Given the description of an element on the screen output the (x, y) to click on. 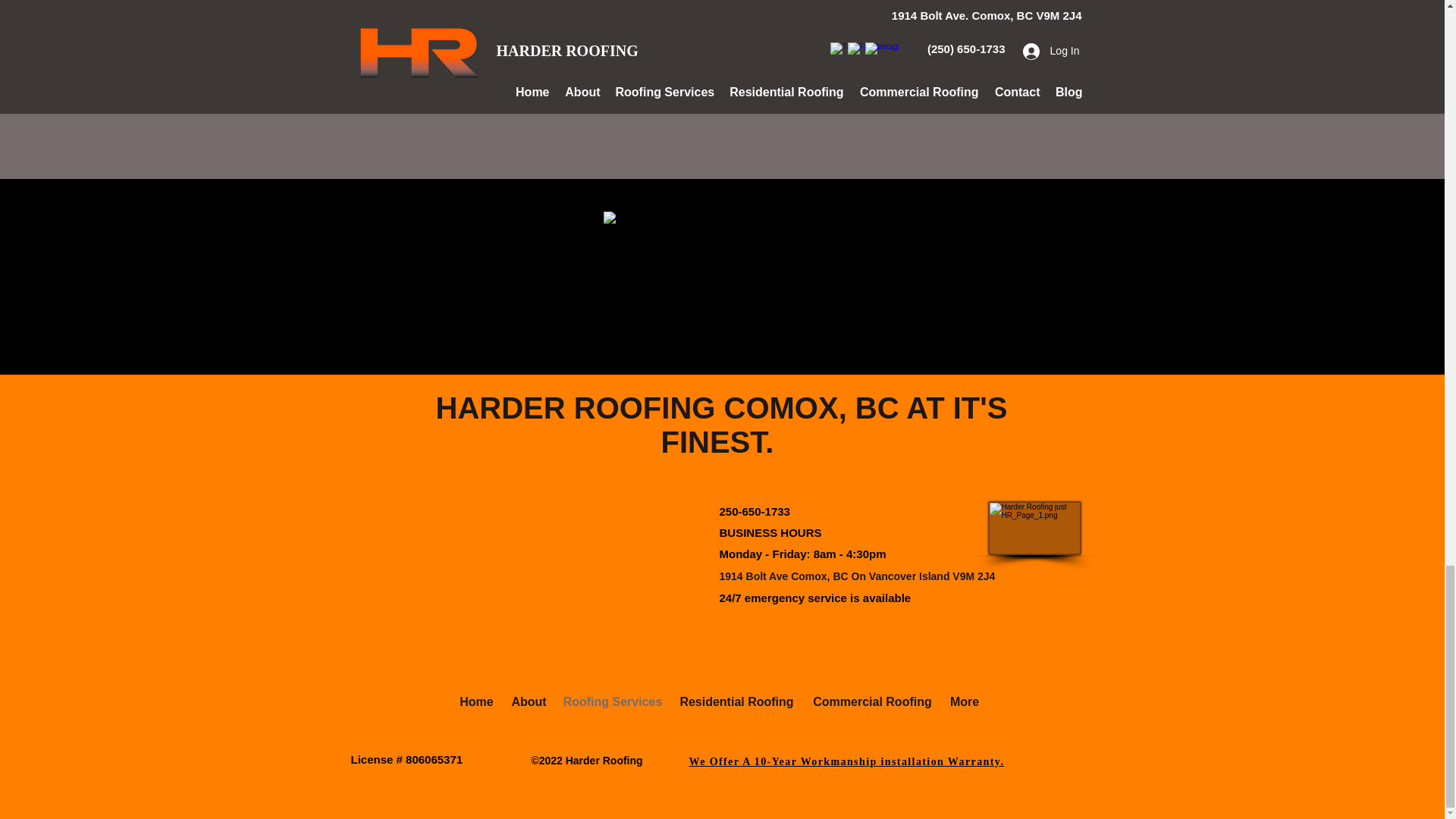
About (528, 702)
Home (475, 702)
